Given the description of an element on the screen output the (x, y) to click on. 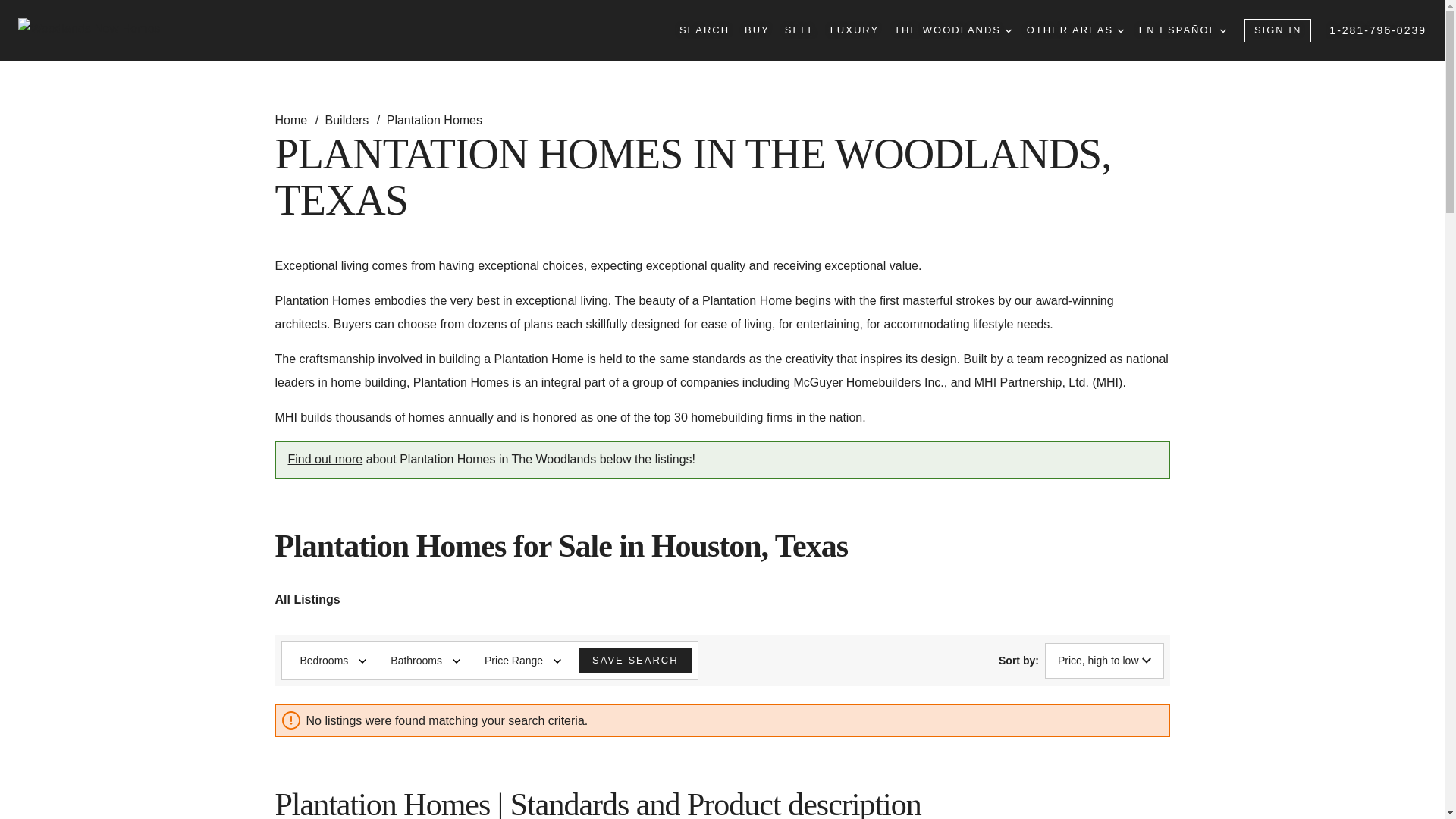
SEARCH (704, 30)
DROPDOWN ARROW (1222, 30)
THE WOODLANDS DROPDOWN ARROW (951, 30)
SELL (799, 30)
SIGN IN (1277, 30)
DROPDOWN ARROW (1008, 30)
LUXURY (854, 30)
BUY (757, 30)
1-281-796-0239 (1377, 29)
OTHER AREAS DROPDOWN ARROW (1075, 30)
DROPDOWN ARROW (1121, 30)
